Given the description of an element on the screen output the (x, y) to click on. 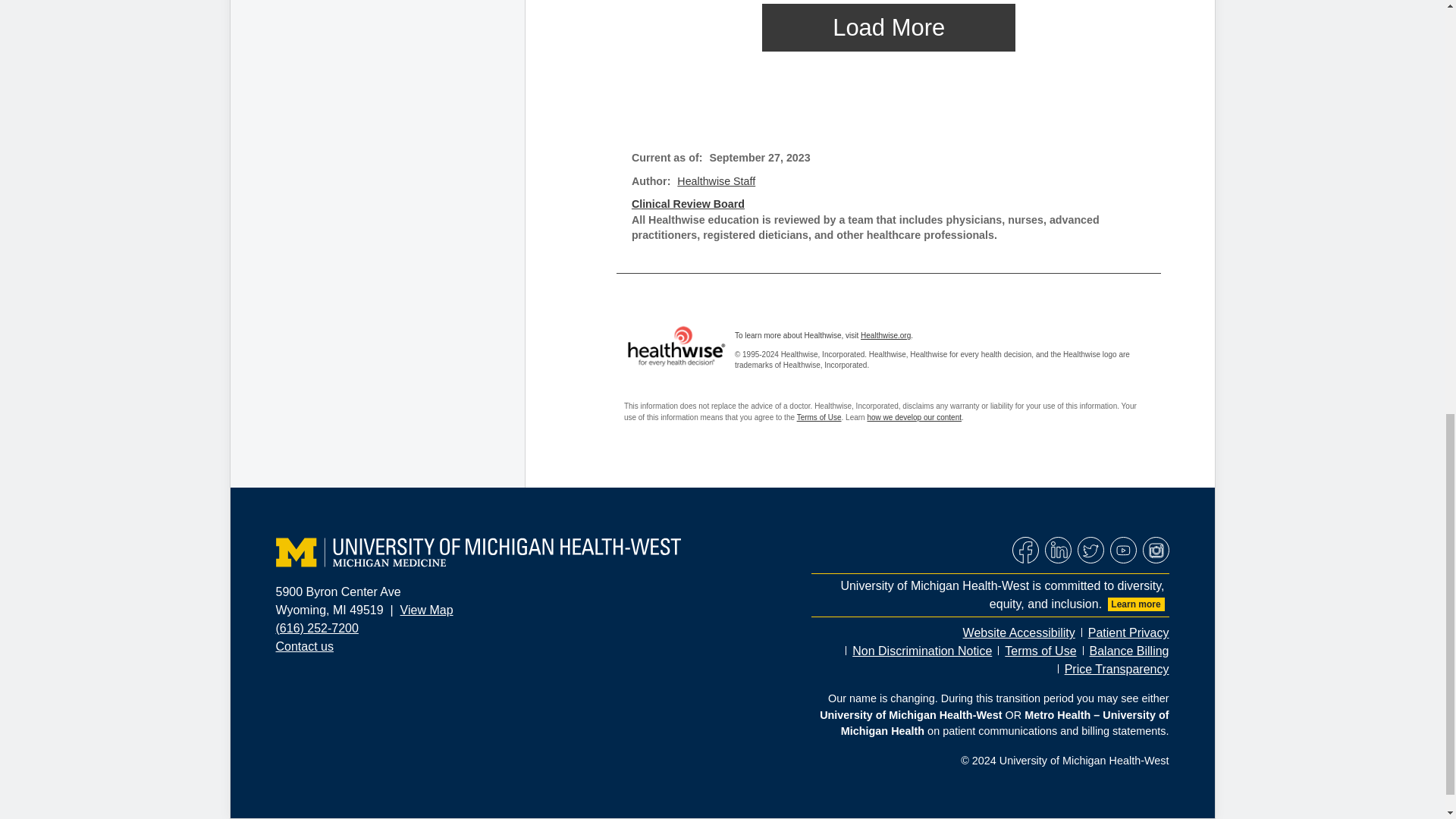
University of Michigan Health-West (478, 552)
